Given the description of an element on the screen output the (x, y) to click on. 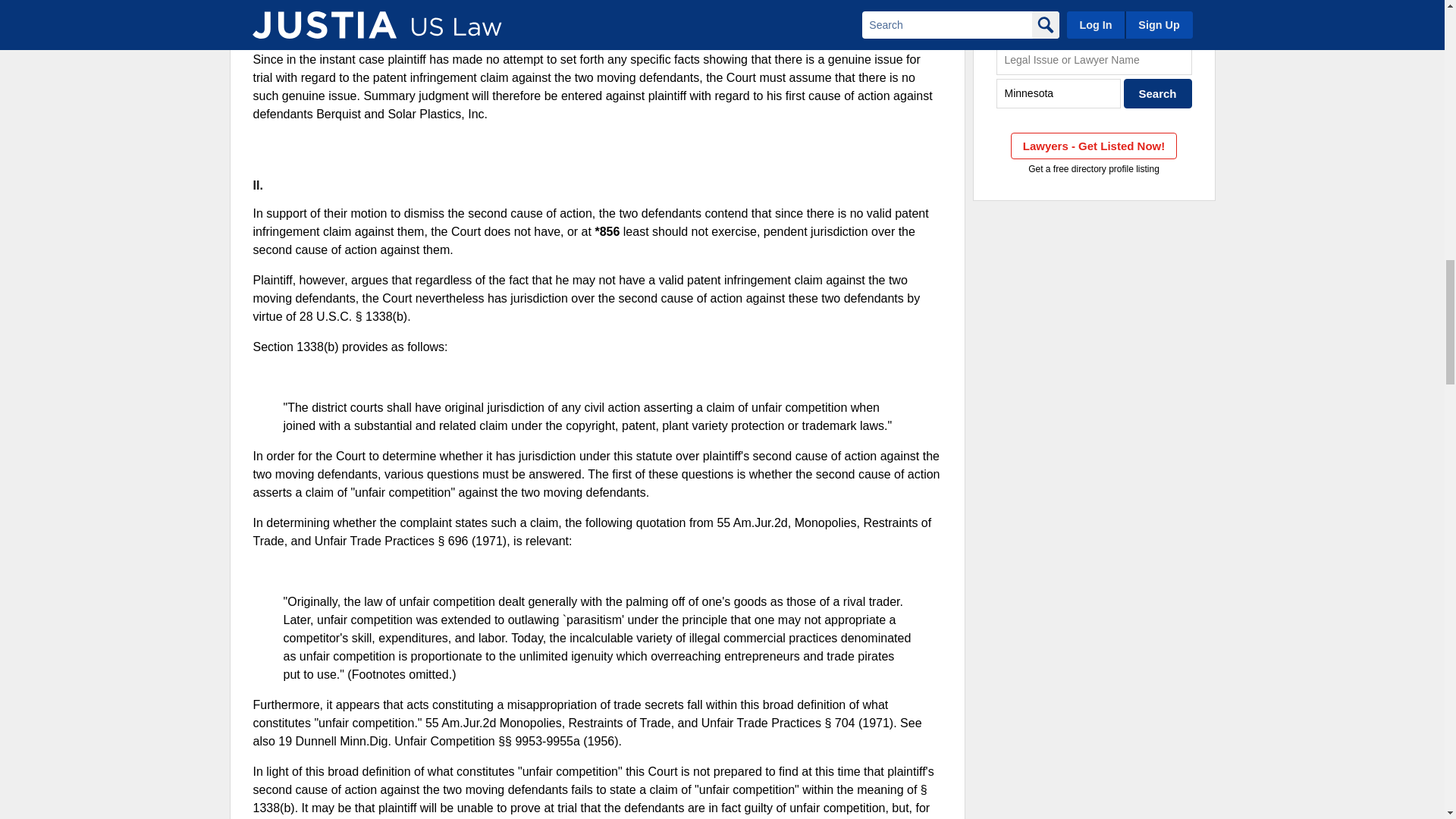
City, State (1058, 93)
Legal Issue or Lawyer Name (1093, 60)
Minnesota (1058, 93)
Search (1158, 93)
Search (1158, 93)
